Given the description of an element on the screen output the (x, y) to click on. 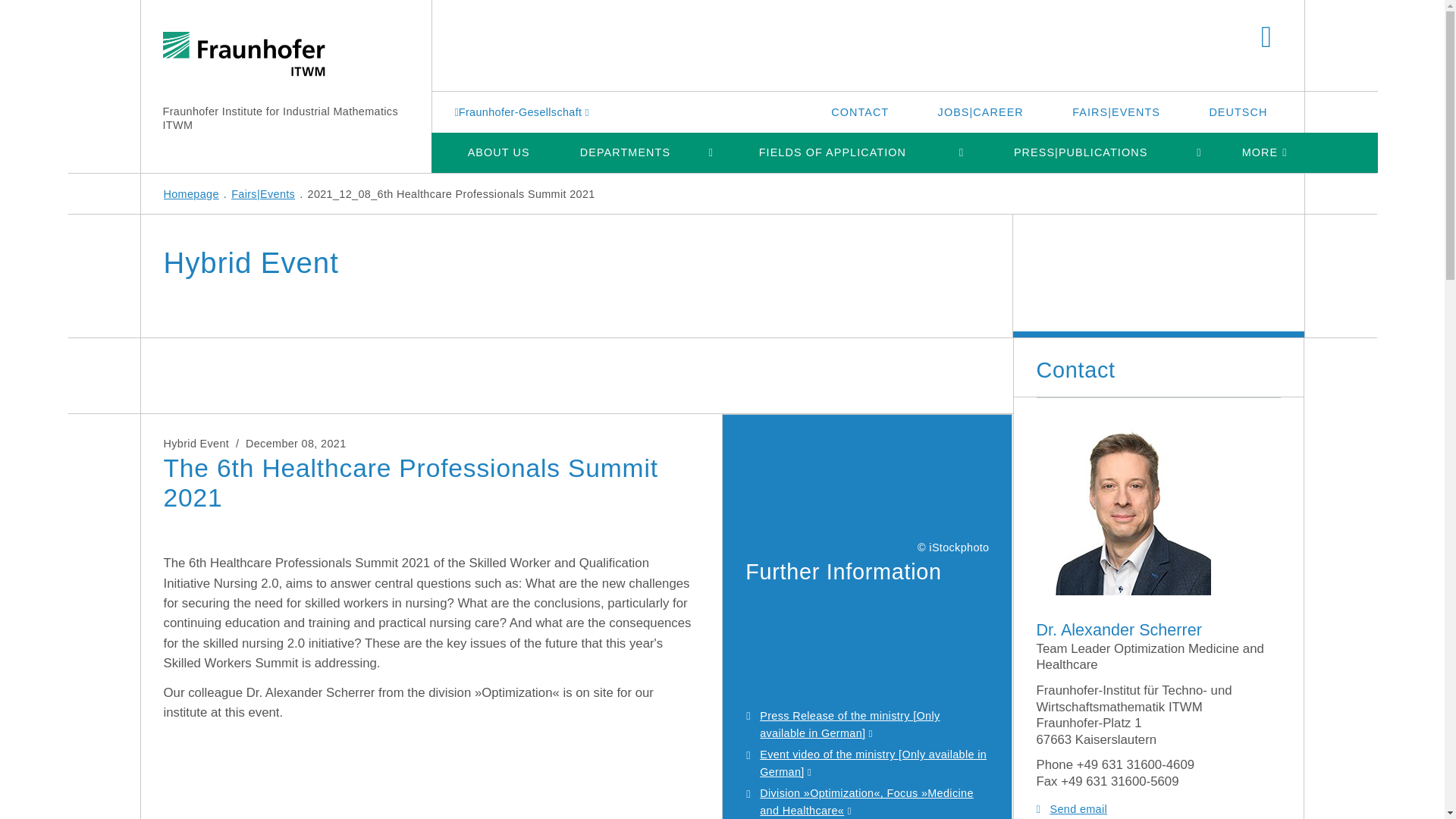
Fraunhofer Institute for Industrial Mathematics ITWM (279, 118)
CONTACT (859, 111)
DEPARTMENTS (625, 151)
SEARCH (1266, 37)
DEUTSCH (1238, 111)
Dr. Alexander Scherrer (1122, 507)
Fraunhofer-Gesellschaft (523, 111)
ABOUT US (497, 151)
